Given the description of an element on the screen output the (x, y) to click on. 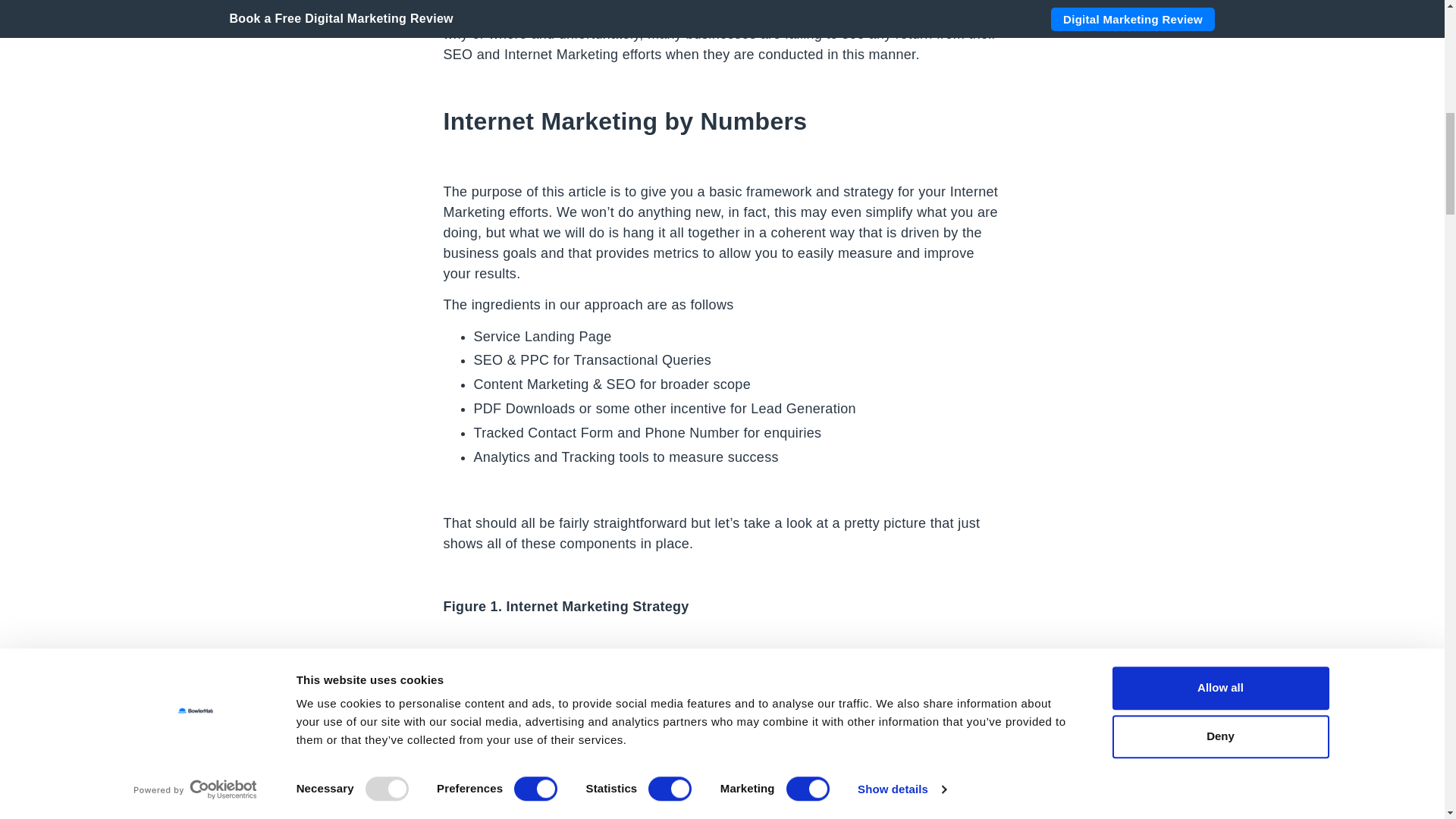
Internet-Marketing-Strategy (689, 739)
